Given the description of an element on the screen output the (x, y) to click on. 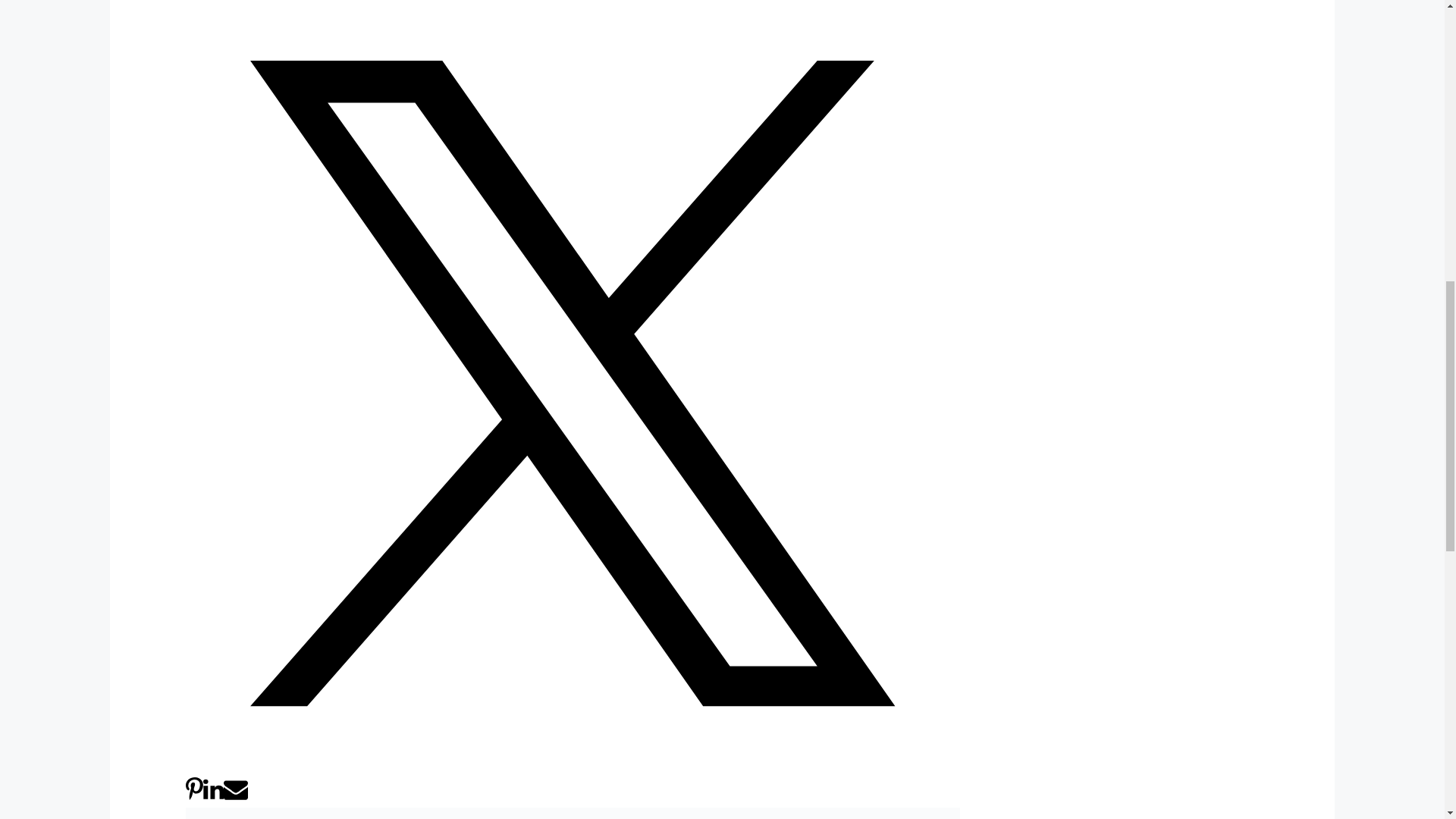
Share on Twitter (572, 766)
Share via Email (235, 796)
Share on Pinterest (194, 796)
Share on LinkedIn (213, 796)
